Given the description of an element on the screen output the (x, y) to click on. 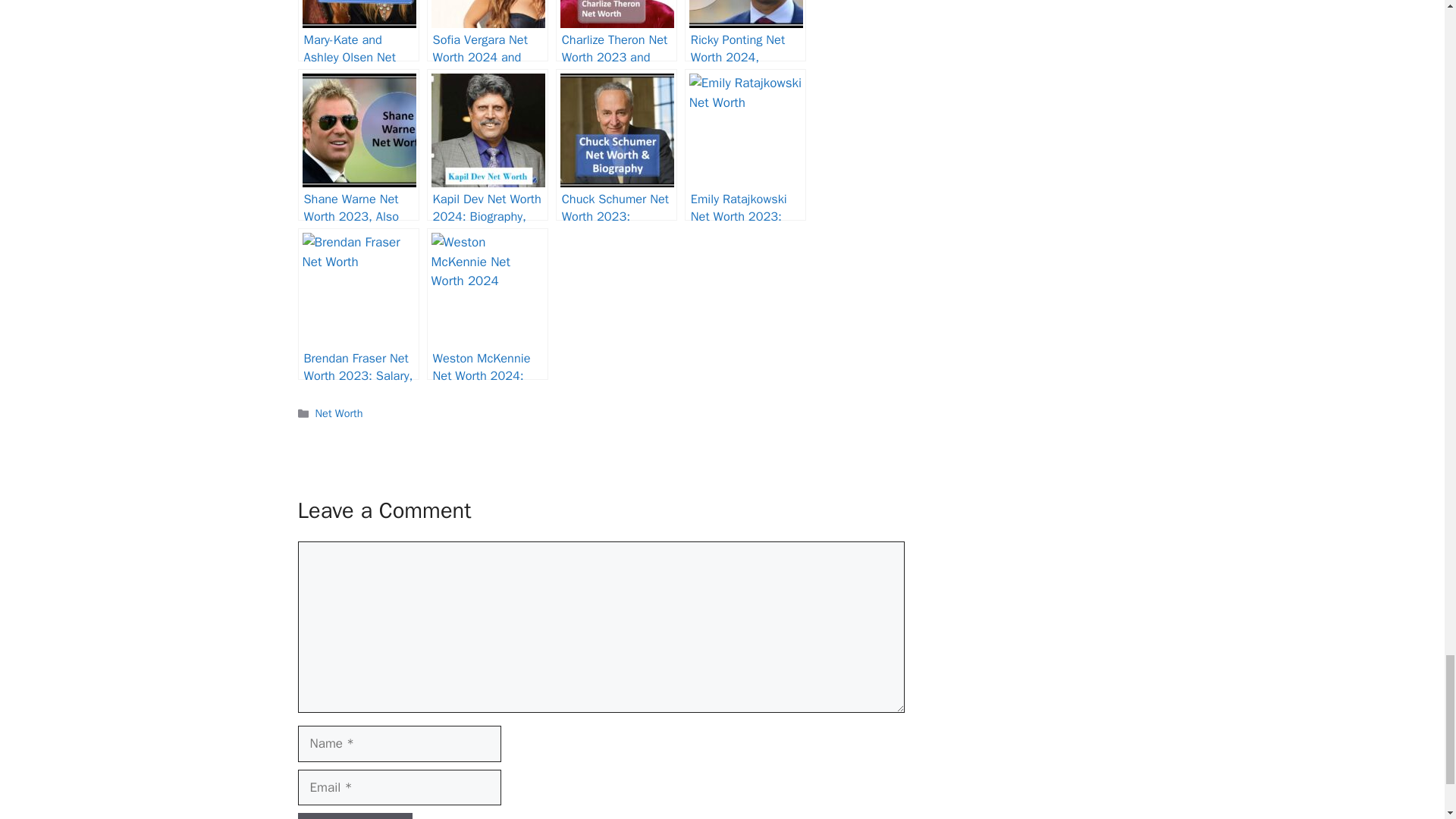
Charlize Theron Net Worth 2023 and Biography (616, 30)
Sofia Vergara Net Worth 2024 and Early Life (487, 30)
Sofia Vergara Net Worth 2024 and Early Life (487, 30)
Ricky Ponting Net Worth 2024, Nickname, DOB, Salary (745, 30)
Charlize Theron Net Worth 2023 and Biography (616, 30)
Post Comment (354, 816)
